Given the description of an element on the screen output the (x, y) to click on. 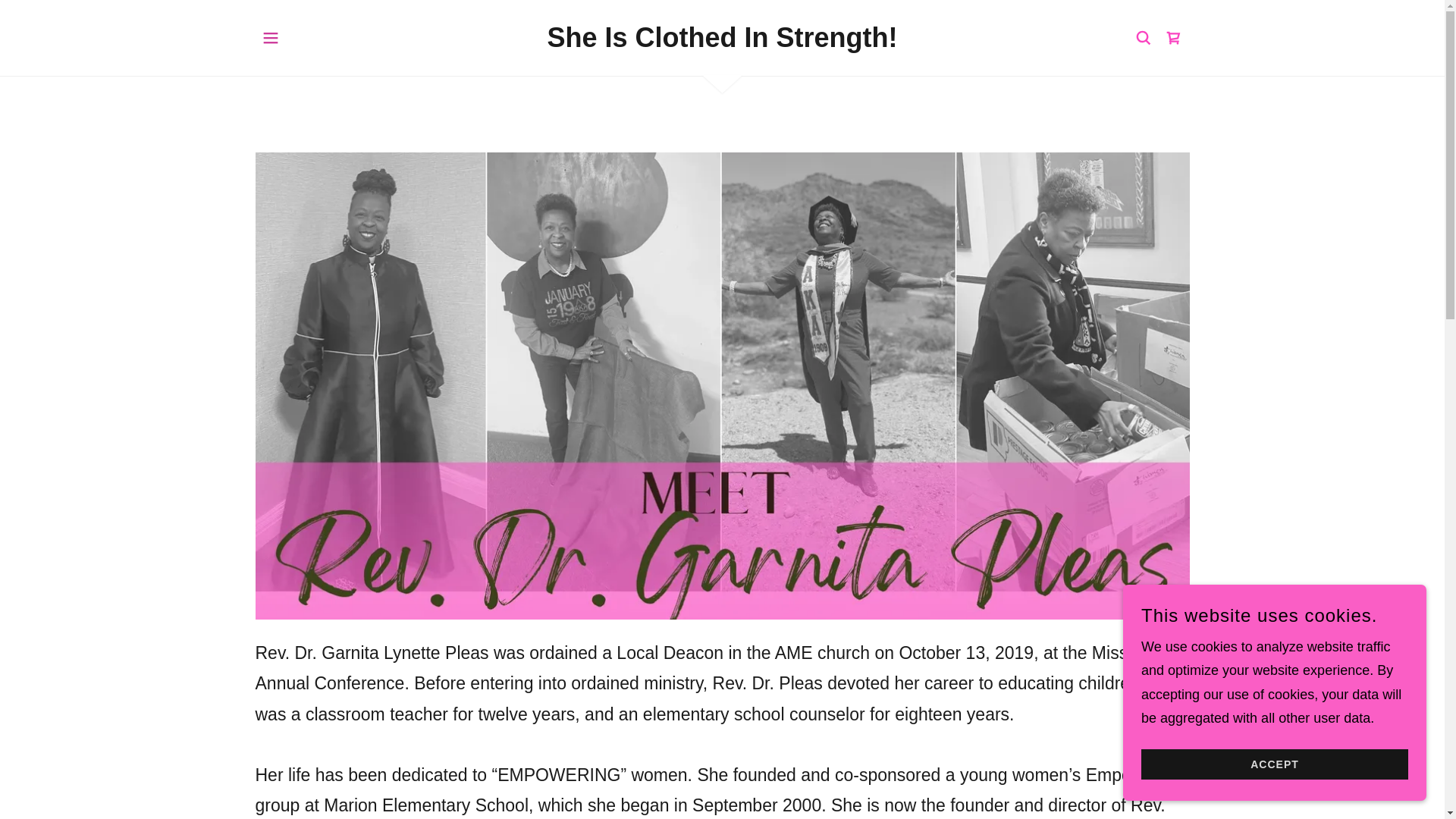
She Is Clothed In Strength! (721, 42)
ACCEPT (1274, 764)
She Is Clothed In Strength! (721, 42)
